Given the description of an element on the screen output the (x, y) to click on. 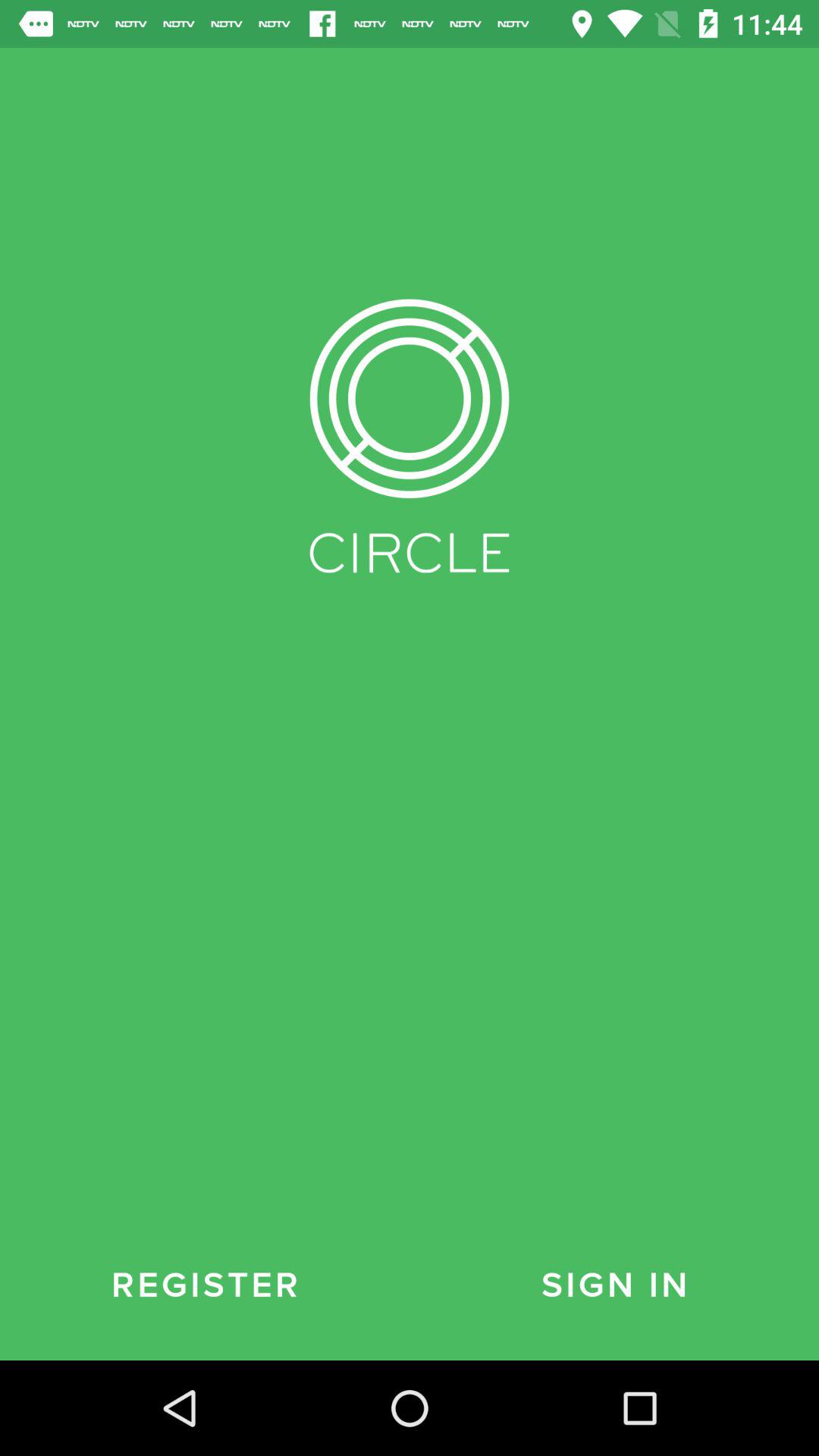
flip to register item (204, 1285)
